Given the description of an element on the screen output the (x, y) to click on. 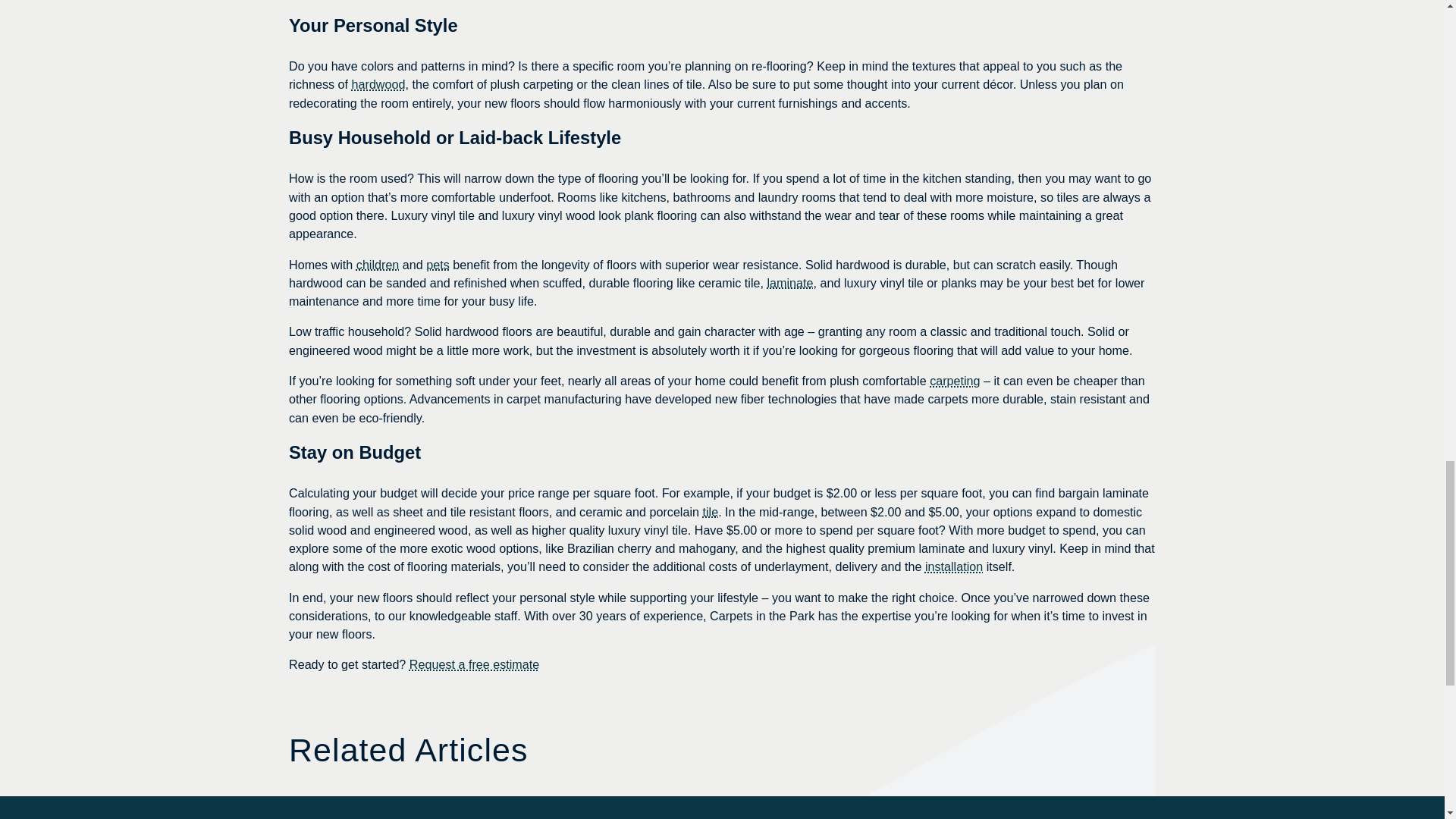
hardwood (379, 83)
tile (709, 511)
laminate (789, 282)
children (377, 264)
installation (953, 566)
pets (437, 264)
carpeting (954, 380)
Request a free estimate (473, 663)
